Given the description of an element on the screen output the (x, y) to click on. 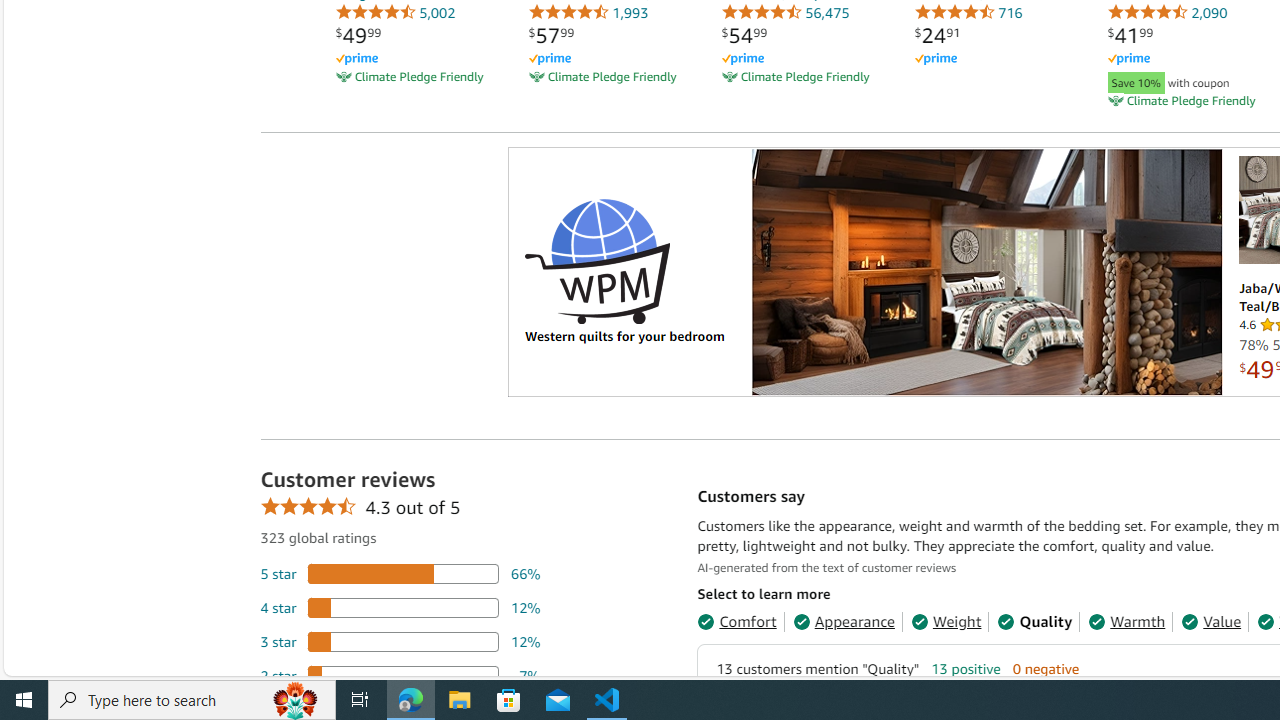
$49.99 (358, 35)
Warmth (1127, 621)
Logo (596, 260)
56,475 (784, 12)
12 percent of reviews have 4 stars (400, 606)
66 percent of reviews have 5 stars (400, 573)
Quality (1034, 621)
Value (1211, 621)
$57.99 (550, 35)
$41.99 (1130, 35)
